Given the description of an element on the screen output the (x, y) to click on. 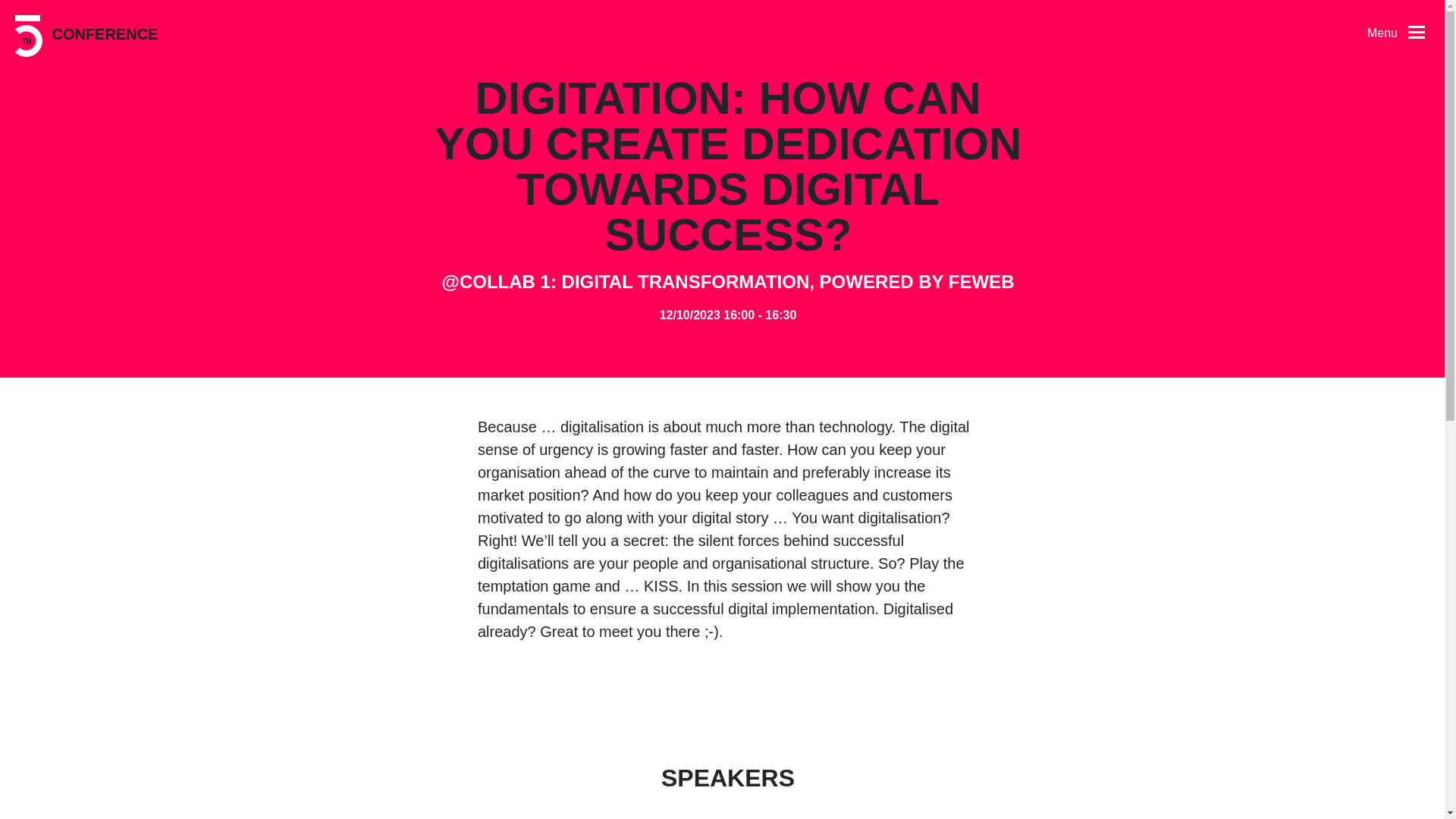
CONFERENCE (85, 35)
